Given the description of an element on the screen output the (x, y) to click on. 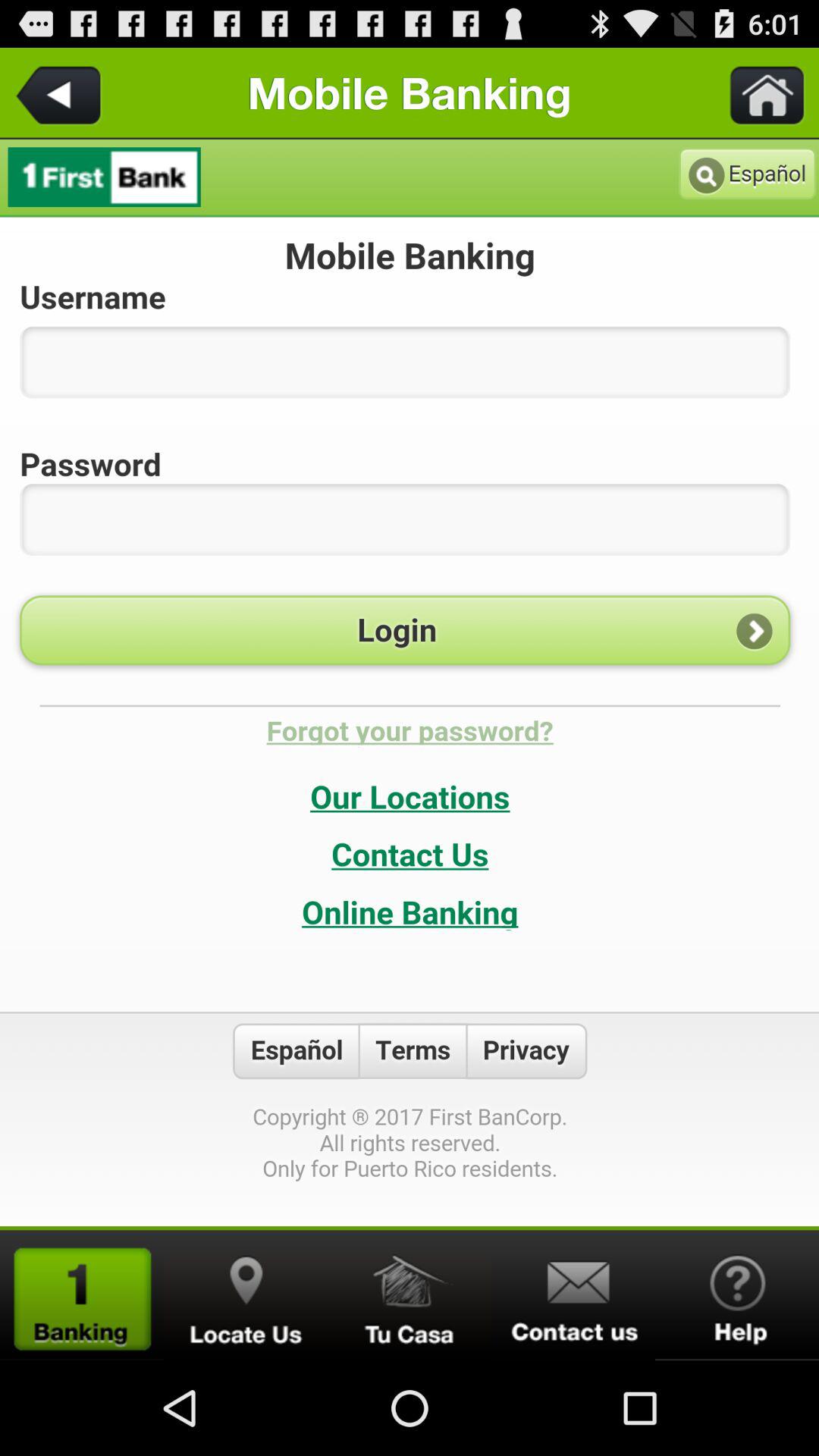
send message (573, 1295)
